Given the description of an element on the screen output the (x, y) to click on. 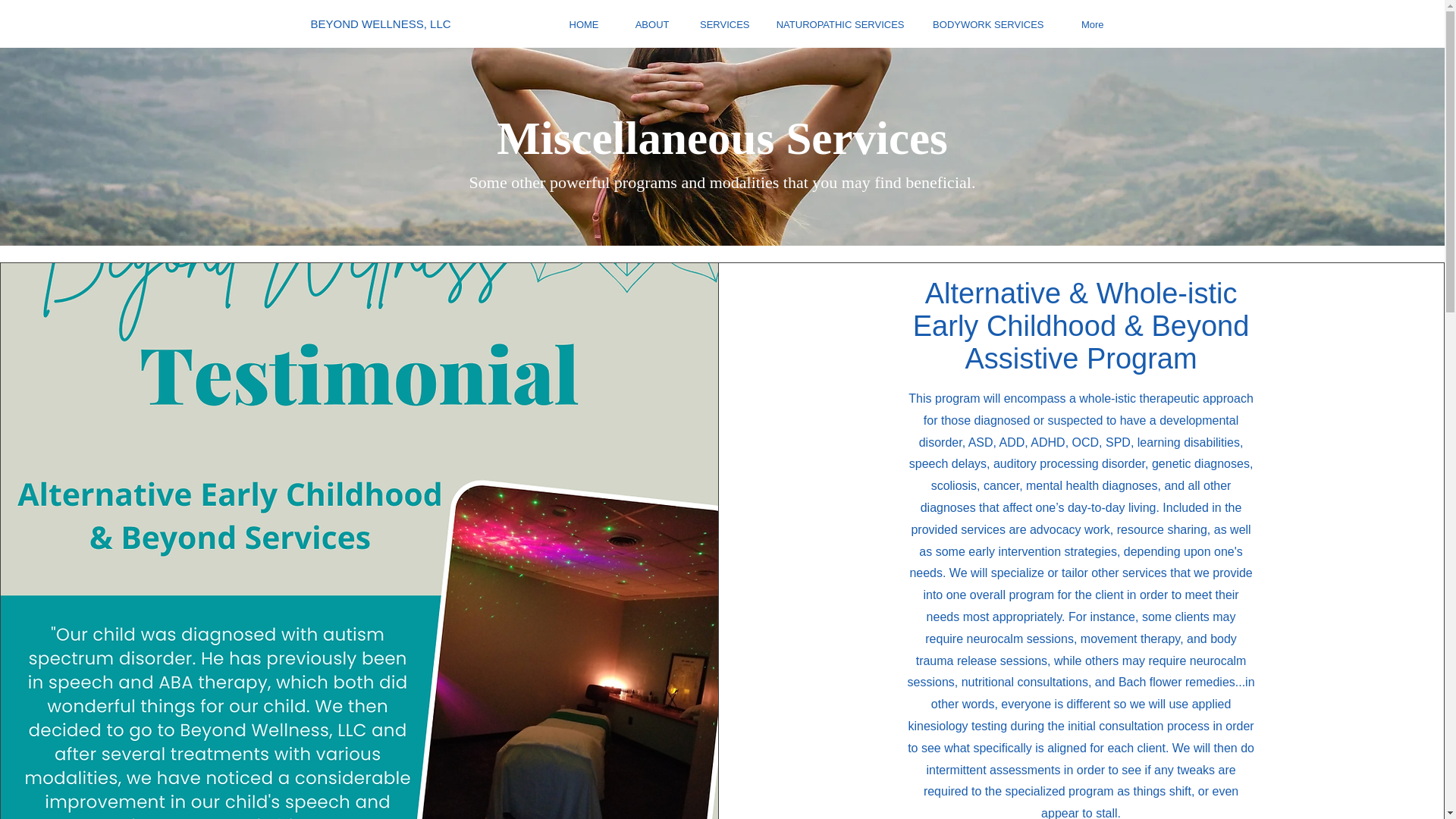
ABOUT (644, 24)
BODYWORK SERVICES (985, 24)
HOME (576, 24)
SERVICES (721, 24)
NATUROPATHIC SERVICES (838, 24)
BEYOND WELLNESS, LLC (479, 23)
